Given the description of an element on the screen output the (x, y) to click on. 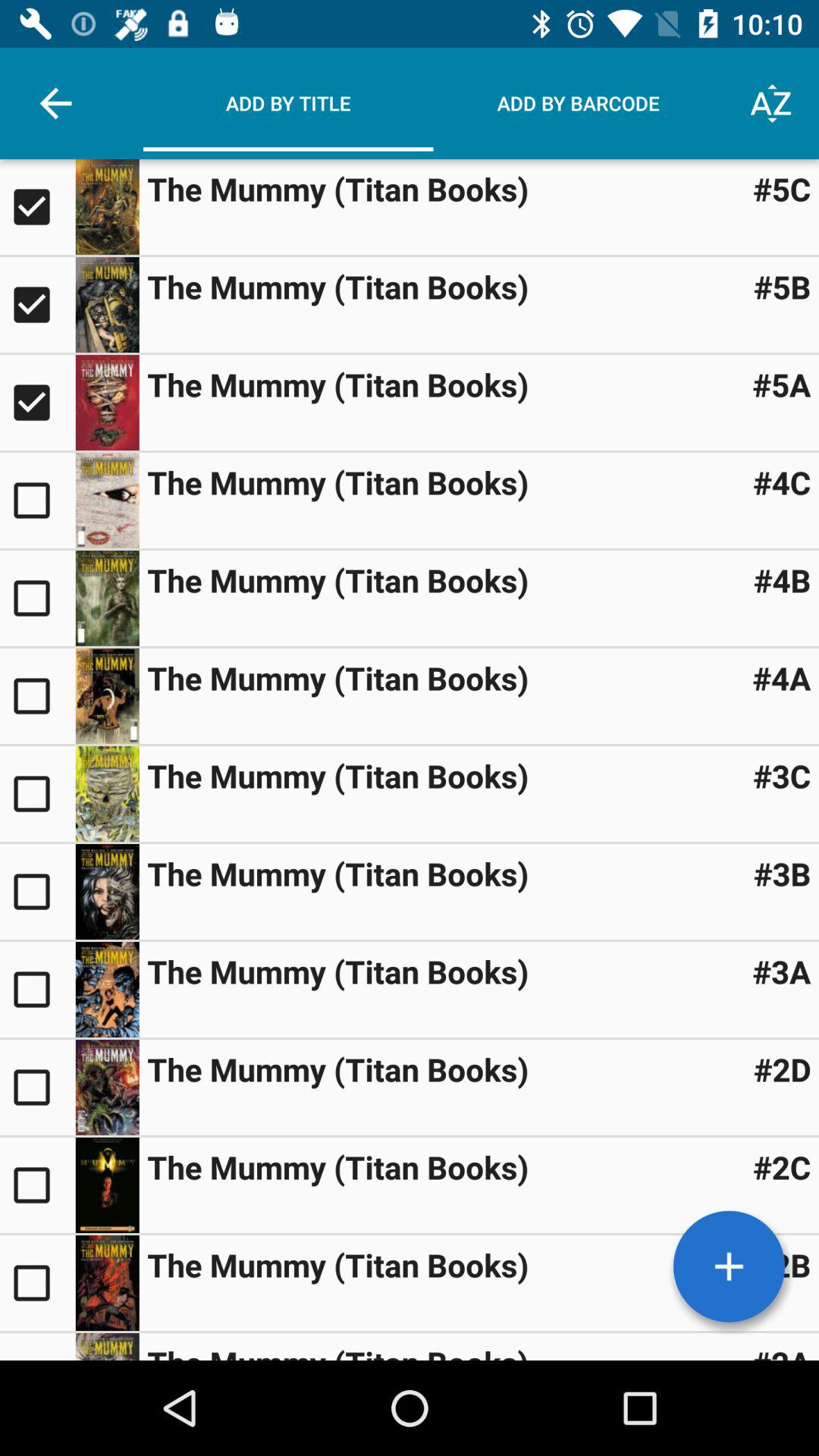
thumbnail image icon (107, 1087)
